Given the description of an element on the screen output the (x, y) to click on. 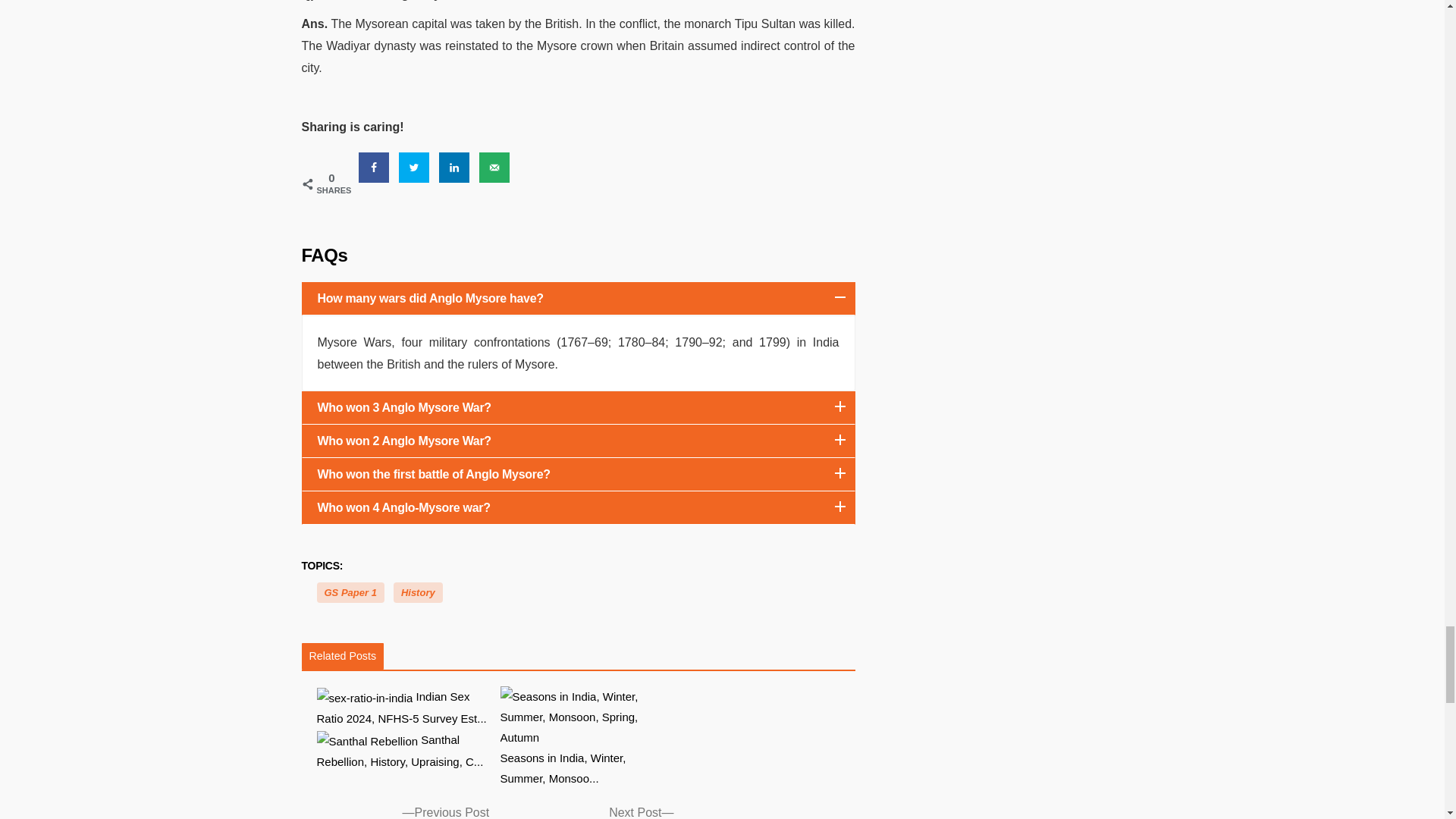
Send over email (494, 167)
Indian Sex Ratio 2024, NFHS-5 Survey Estimated Sex Ratio (402, 707)
Seasons in India, Winter, Summer, Monsoon, Spring, Autumn (585, 737)
Share on Facebook (373, 167)
Share on LinkedIn (453, 167)
Share on Twitter (413, 167)
